Given the description of an element on the screen output the (x, y) to click on. 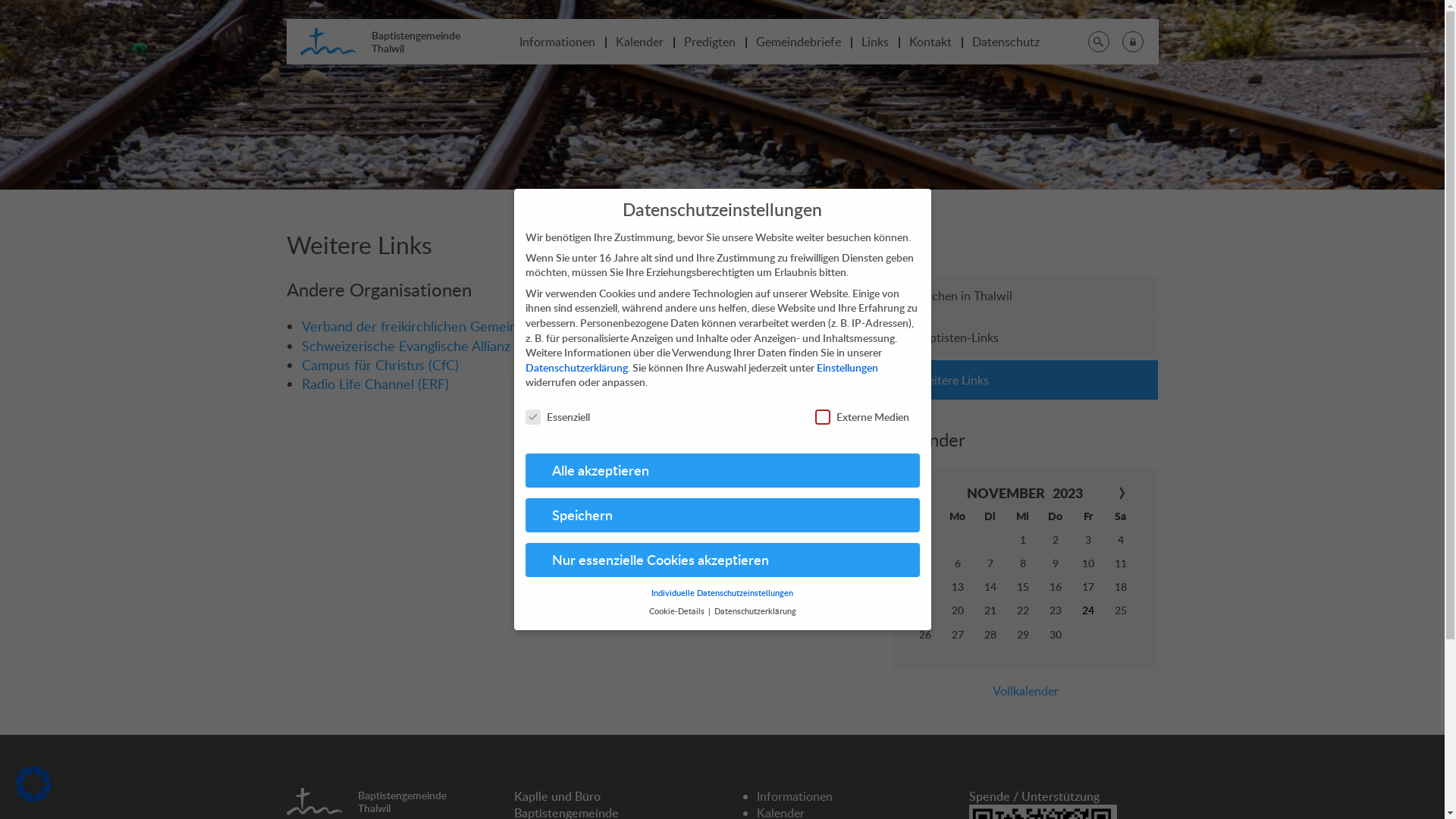
Links Element type: text (874, 41)
Einstellungen Element type: text (846, 367)
Gemeindebriefe Element type: text (797, 41)
Informationen Element type: text (794, 795)
Kalender Element type: text (639, 41)
Alle akzeptieren Element type: text (721, 470)
Radio Life Channel (ERF) Element type: text (374, 383)
Kontakt Element type: text (929, 41)
Individuelle Datenschutzeinstellungen Element type: text (722, 592)
Cookie-Details Element type: text (677, 610)
Nur essenzielle Cookies akzeptieren Element type: text (721, 559)
Speichern Element type: text (721, 515)
Schweizerische Evanglische Allianz (SEA) Element type: text (423, 345)
Kirchen in Thalwil Element type: text (1025, 295)
Verband der freikirchlichen Gemeinden in der Schweiz (VfG) Element type: text (483, 325)
Weitere Links Element type: text (1025, 379)
Baptistengemeinde Thalwil Element type: text (377, 799)
Vollkalender Element type: text (1025, 690)
Predigten Element type: text (709, 41)
Baptistengemeinde Thalwil Element type: text (391, 39)
Datenschutz Element type: text (1005, 41)
Informationen Element type: text (556, 41)
Baptisten-Links Element type: text (1025, 337)
